Given the description of an element on the screen output the (x, y) to click on. 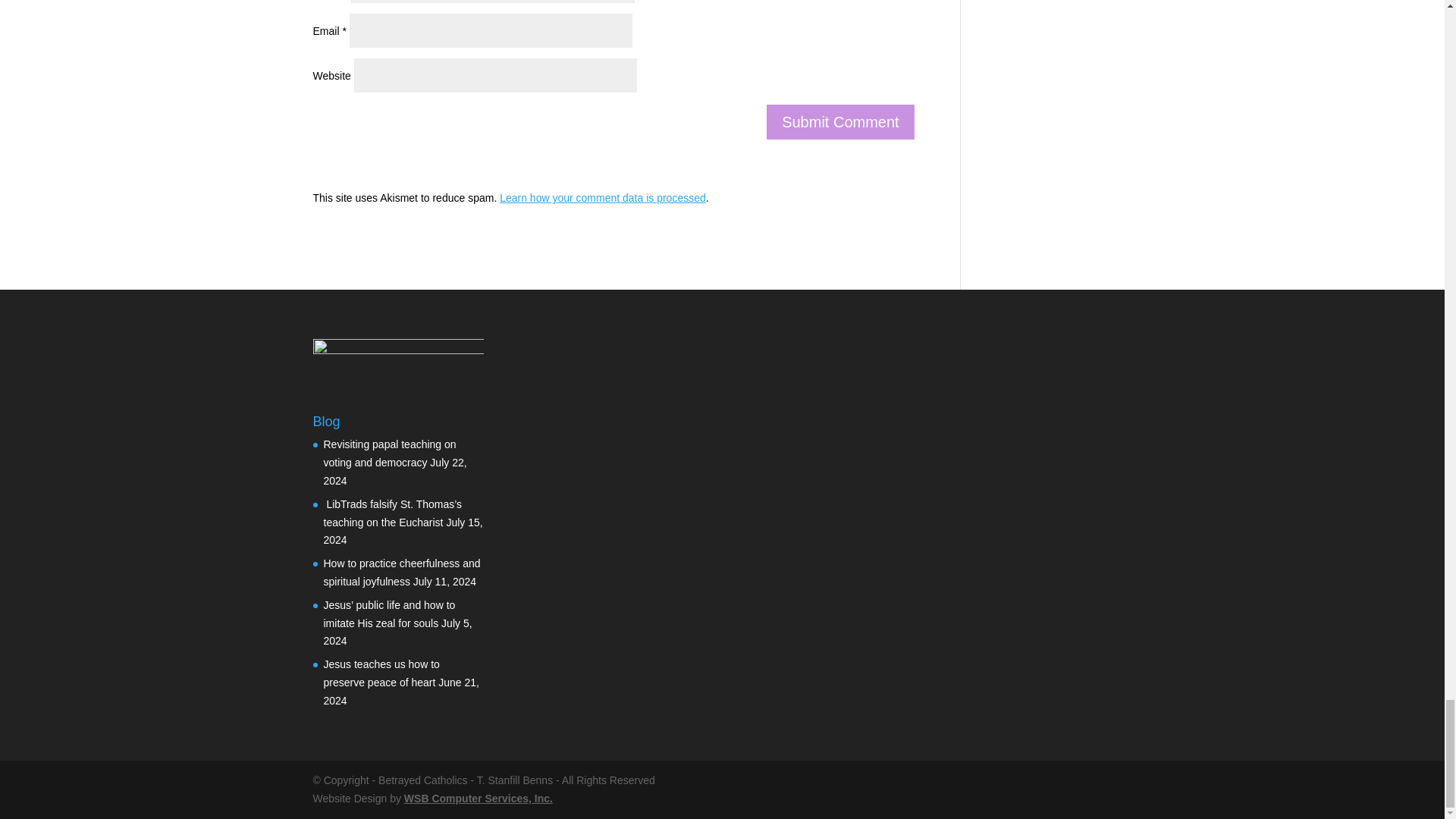
Submit Comment (840, 121)
